Given the description of an element on the screen output the (x, y) to click on. 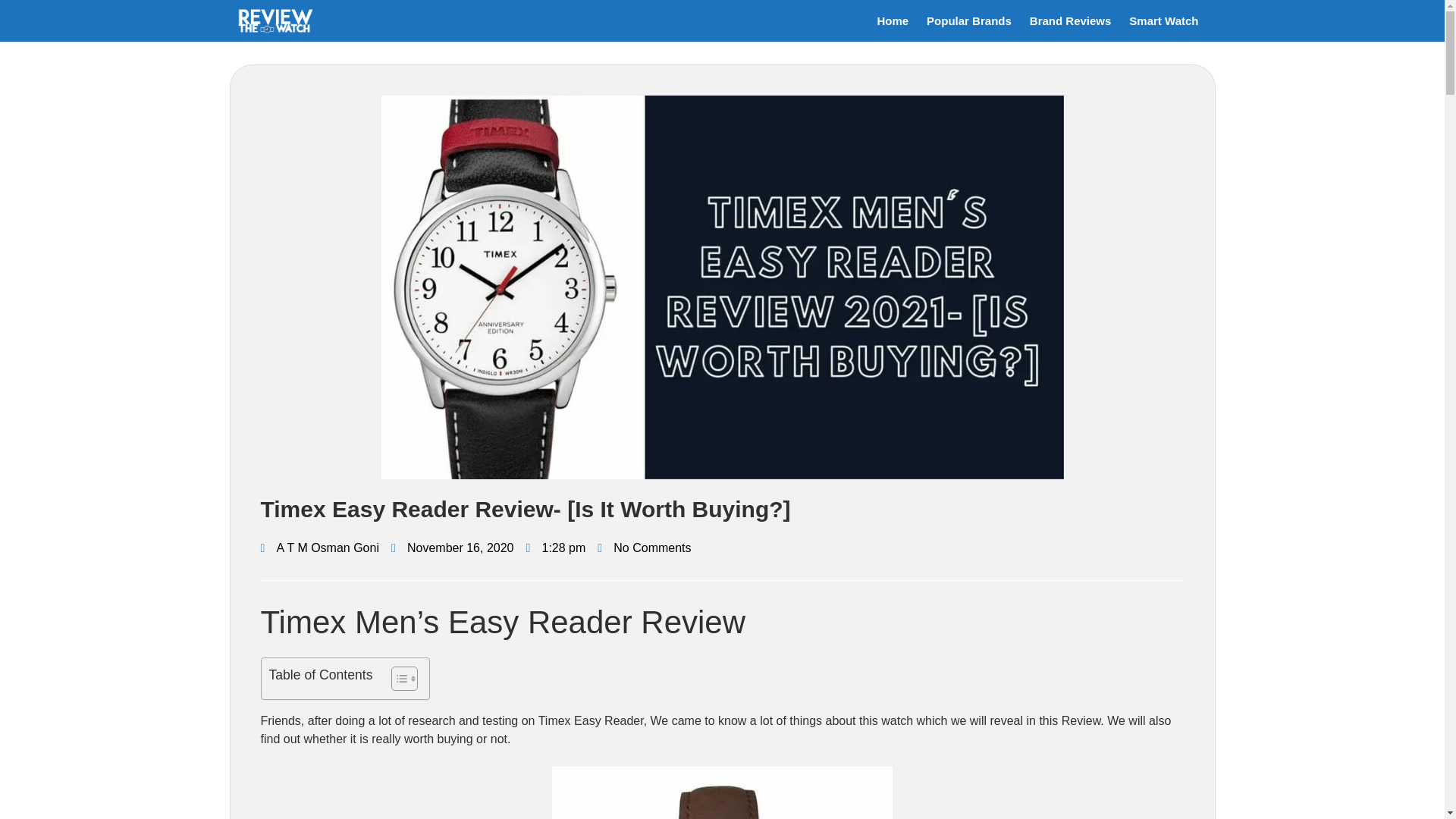
November 16, 2020 (452, 547)
Popular Brands (968, 21)
Home (892, 21)
Smart Watch (1163, 21)
A T M Osman Goni (319, 547)
No Comments (643, 547)
Brand Reviews (1070, 21)
